Given the description of an element on the screen output the (x, y) to click on. 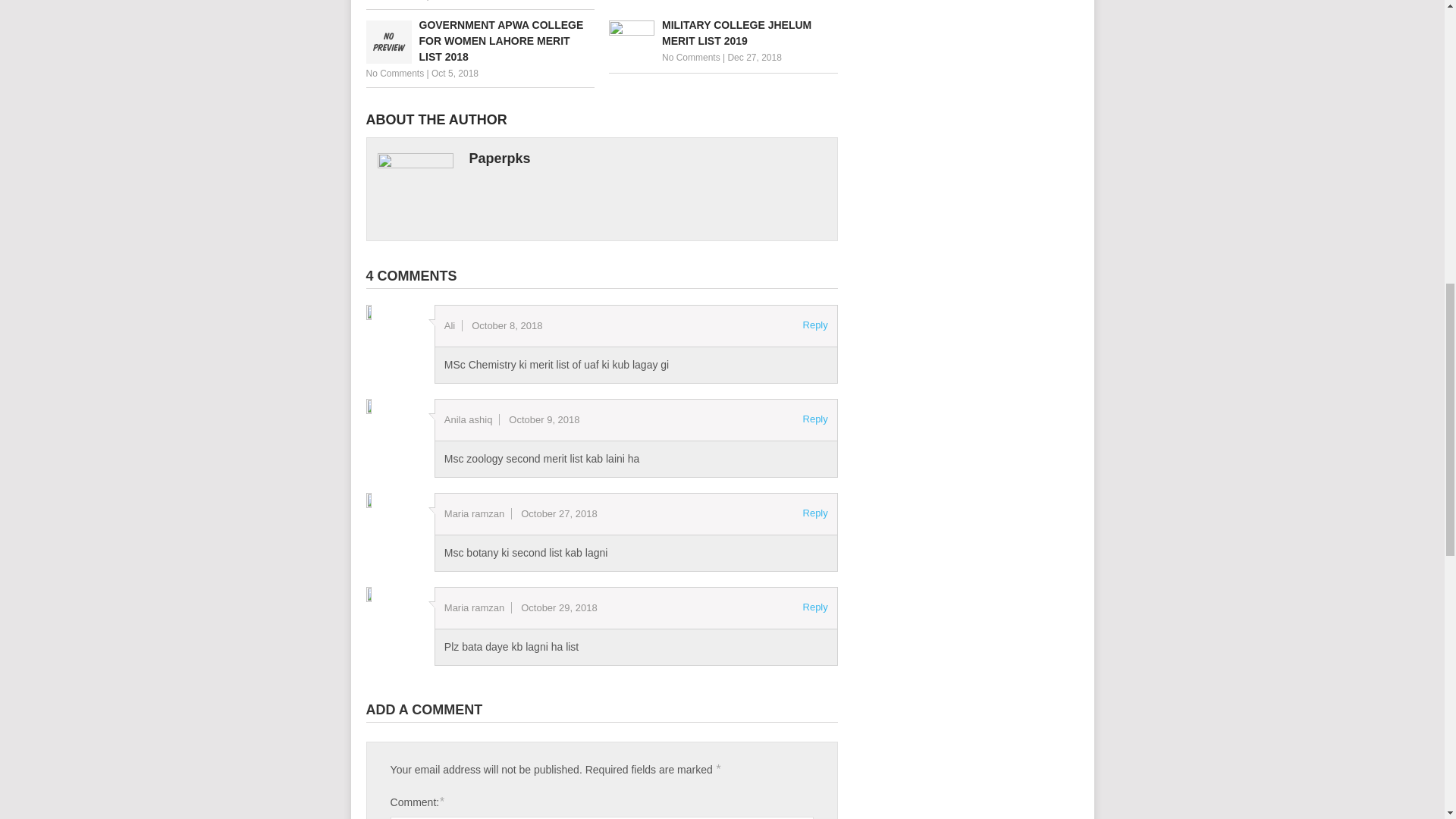
No Comments (394, 72)
No Comments (691, 57)
GOVERNMENT APWA COLLEGE FOR WOMEN LAHORE MERIT LIST 2018 (479, 41)
Government Apwa College for Women Lahore Merit List 2018 (479, 41)
No Comments (394, 0)
Reply (815, 513)
MILITARY COLLEGE JHELUM MERIT LIST 2019 (723, 33)
Reply (815, 606)
Military College Jhelum Merit List 2019 (723, 33)
Reply (815, 419)
